Given the description of an element on the screen output the (x, y) to click on. 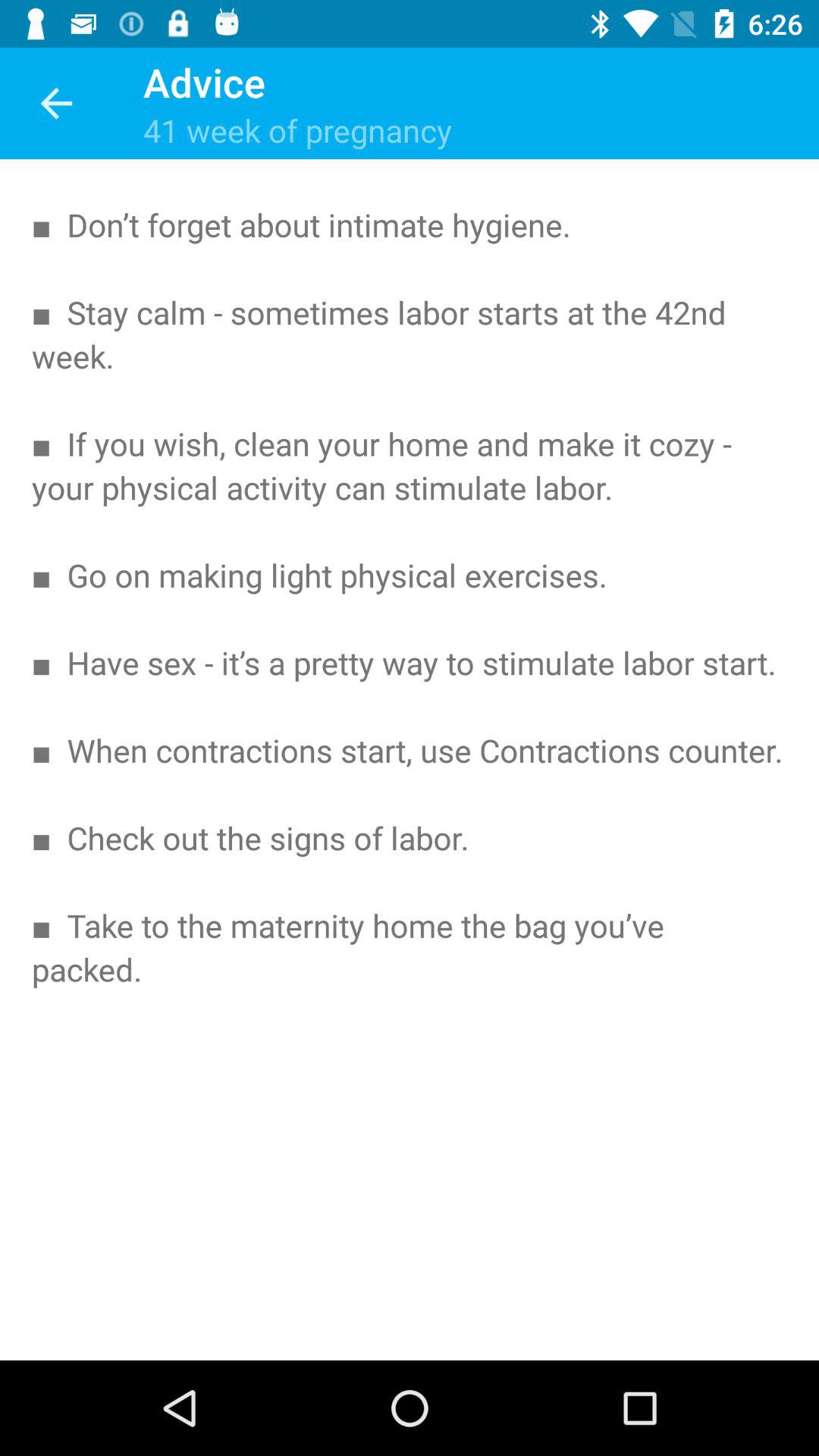
select the item next to advice icon (55, 103)
